Given the description of an element on the screen output the (x, y) to click on. 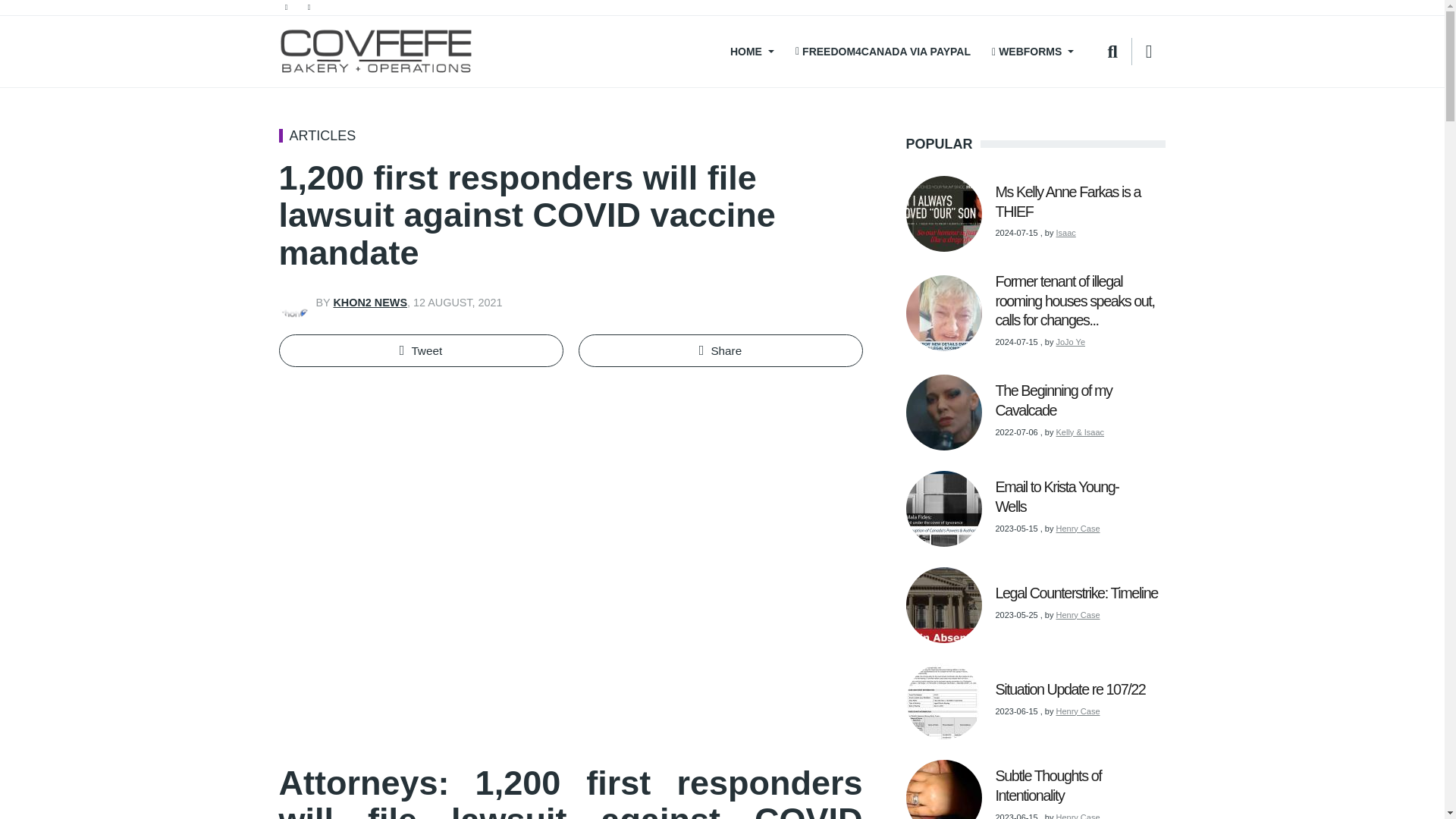
Home (376, 51)
Share on Facebook (719, 350)
WEBFORMS (1032, 51)
Share on Twitter (421, 350)
FREEDOM4CANADA VIA PAYPAL (882, 51)
View user profile. (370, 302)
Donate to the Independent Ontario Advocacy Group via PayPal (882, 51)
HOME (750, 51)
